Given the description of an element on the screen output the (x, y) to click on. 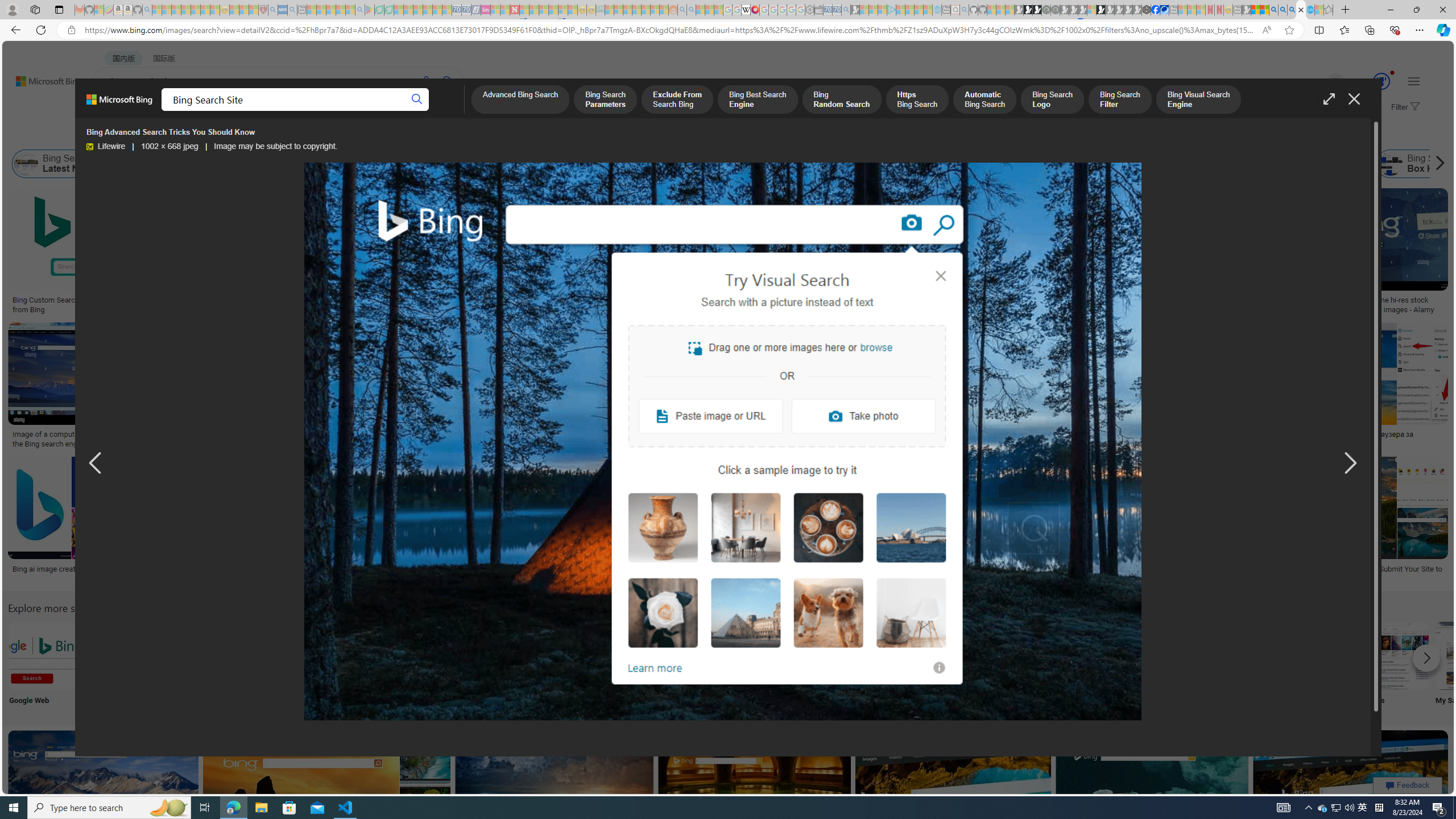
Exclude From Search Bing (676, 100)
Bing Random Search (794, 654)
Automatic Bing Search (984, 100)
Bing Search Dark Mode Dark Mode (342, 665)
Next image result (1349, 463)
Bing Search Results Results (644, 665)
Bing Advanced Search Tricks You Should Know (457, 299)
